Given the description of an element on the screen output the (x, y) to click on. 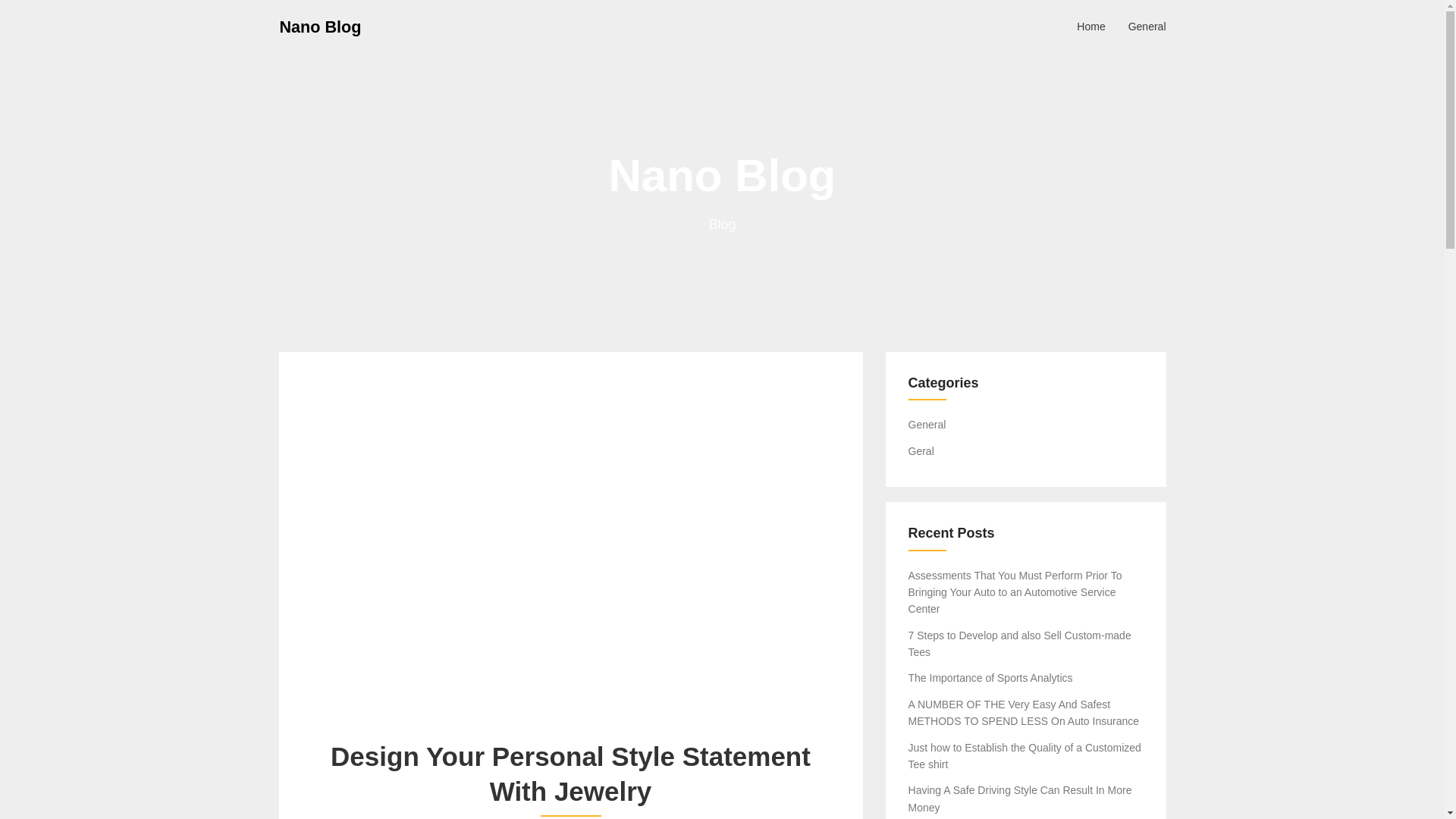
General (927, 424)
7 Steps to Develop and also Sell Custom-made Tees (1019, 643)
The Importance of Sports Analytics (990, 677)
Geral (921, 451)
Having A Safe Driving Style Can Result In More Money (1020, 798)
Nano Blog (320, 26)
Just how to Establish the Quality of a Customized Tee shirt (1024, 756)
General (1146, 26)
